Given the description of an element on the screen output the (x, y) to click on. 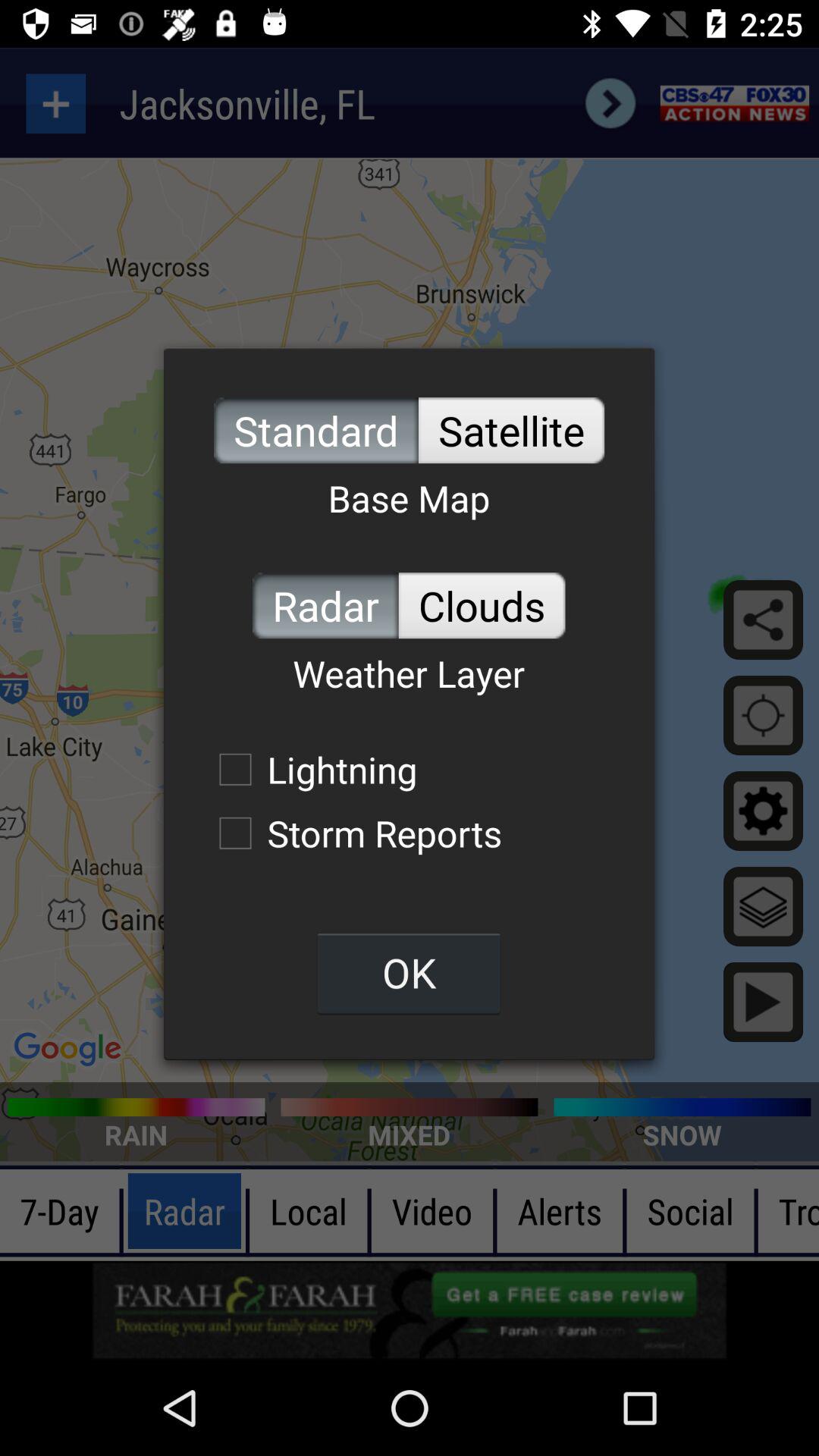
press the icon below the lightning (352, 833)
